Given the description of an element on the screen output the (x, y) to click on. 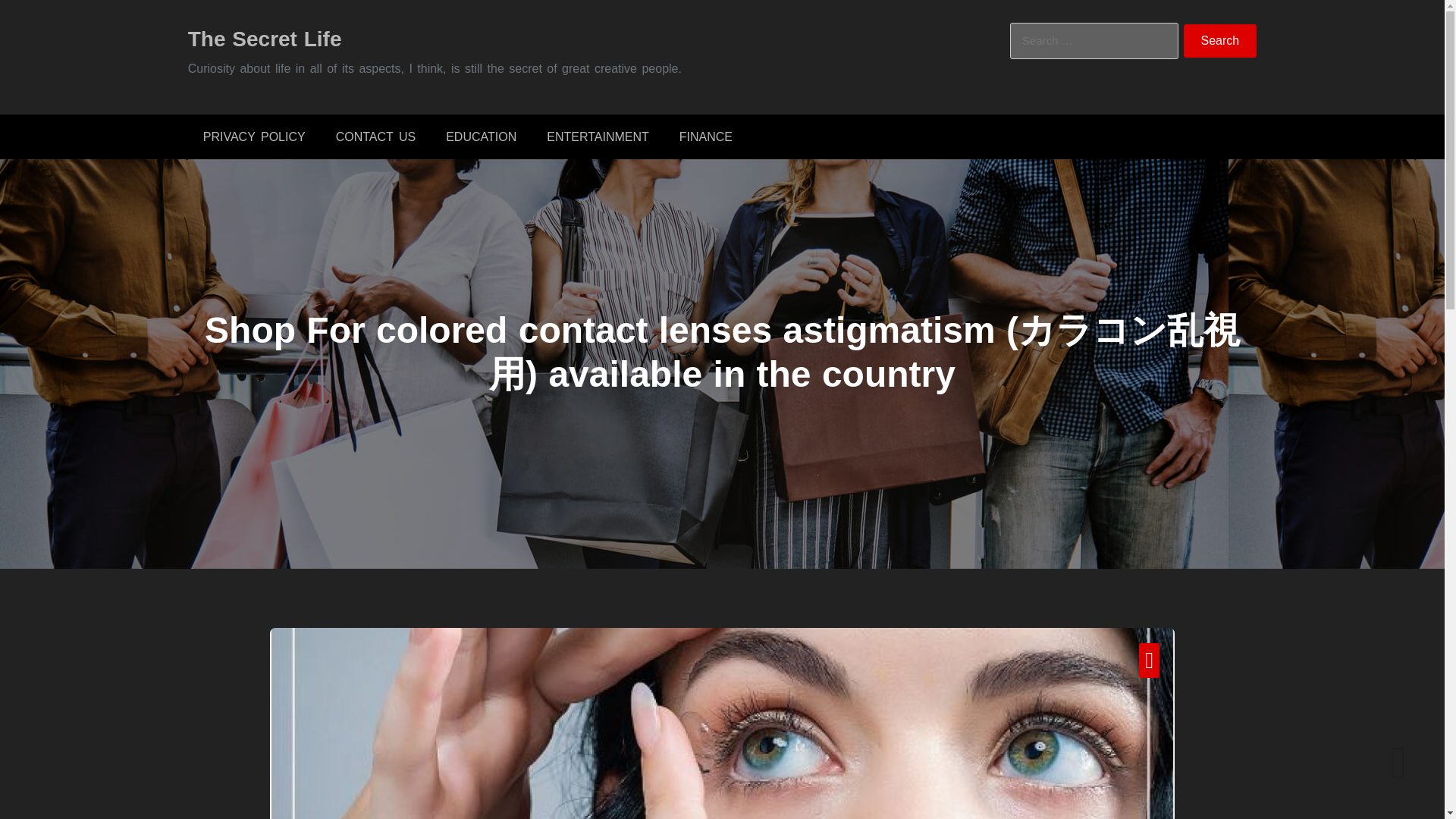
The Secret Life (264, 38)
Search (1220, 40)
PRIVACY POLICY (253, 136)
FINANCE (705, 136)
ENTERTAINMENT (597, 136)
CONTACT US (375, 136)
Search (1220, 40)
Search (1220, 40)
EDUCATION (480, 136)
